Given the description of an element on the screen output the (x, y) to click on. 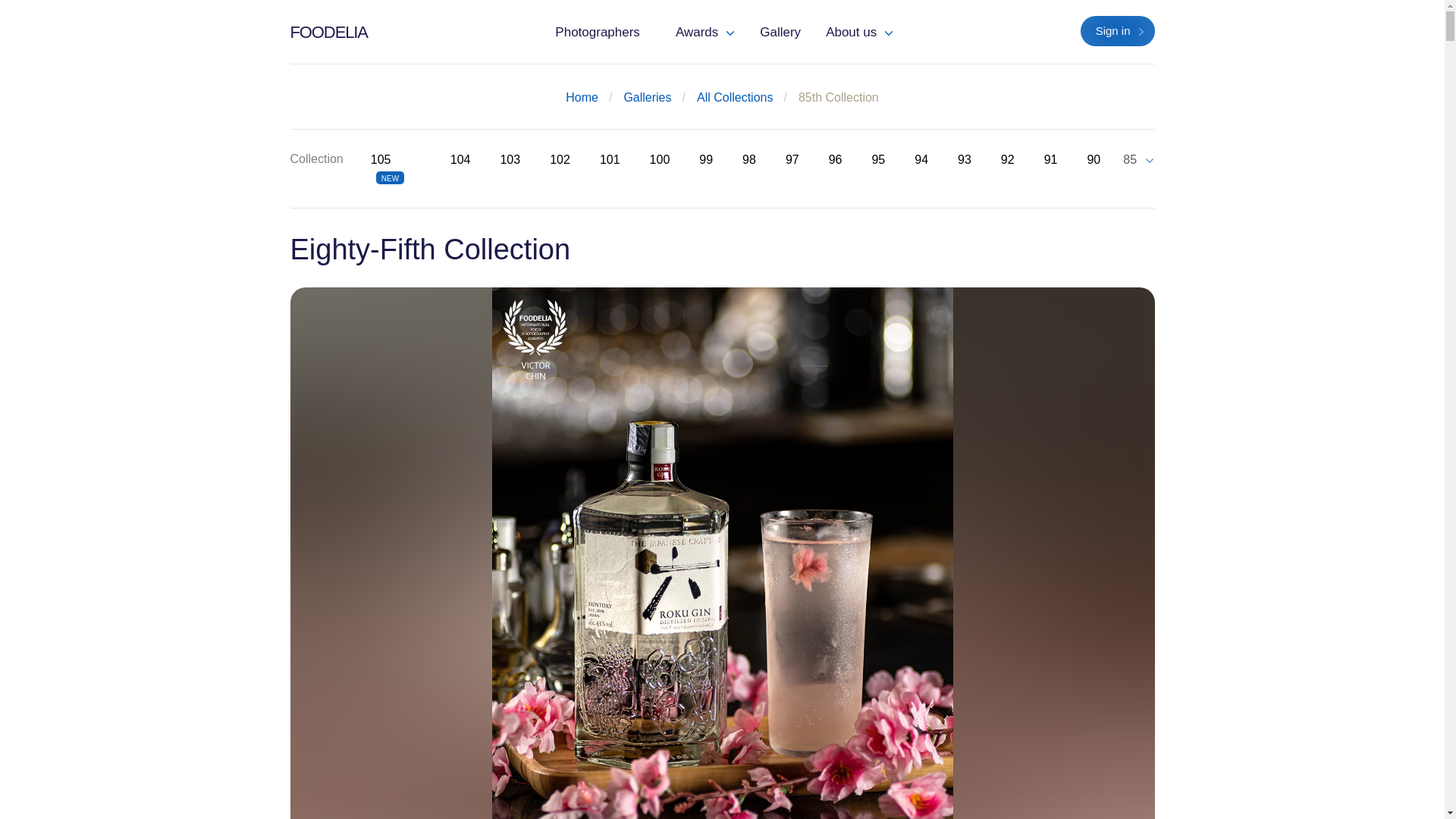
Home (582, 97)
Awards (704, 31)
FOODELIA (327, 31)
Galleries (647, 97)
About us (858, 31)
Gallery (780, 31)
85th Collection (838, 97)
Sign in (1117, 30)
All Collections (735, 97)
Photographers (596, 31)
